Given the description of an element on the screen output the (x, y) to click on. 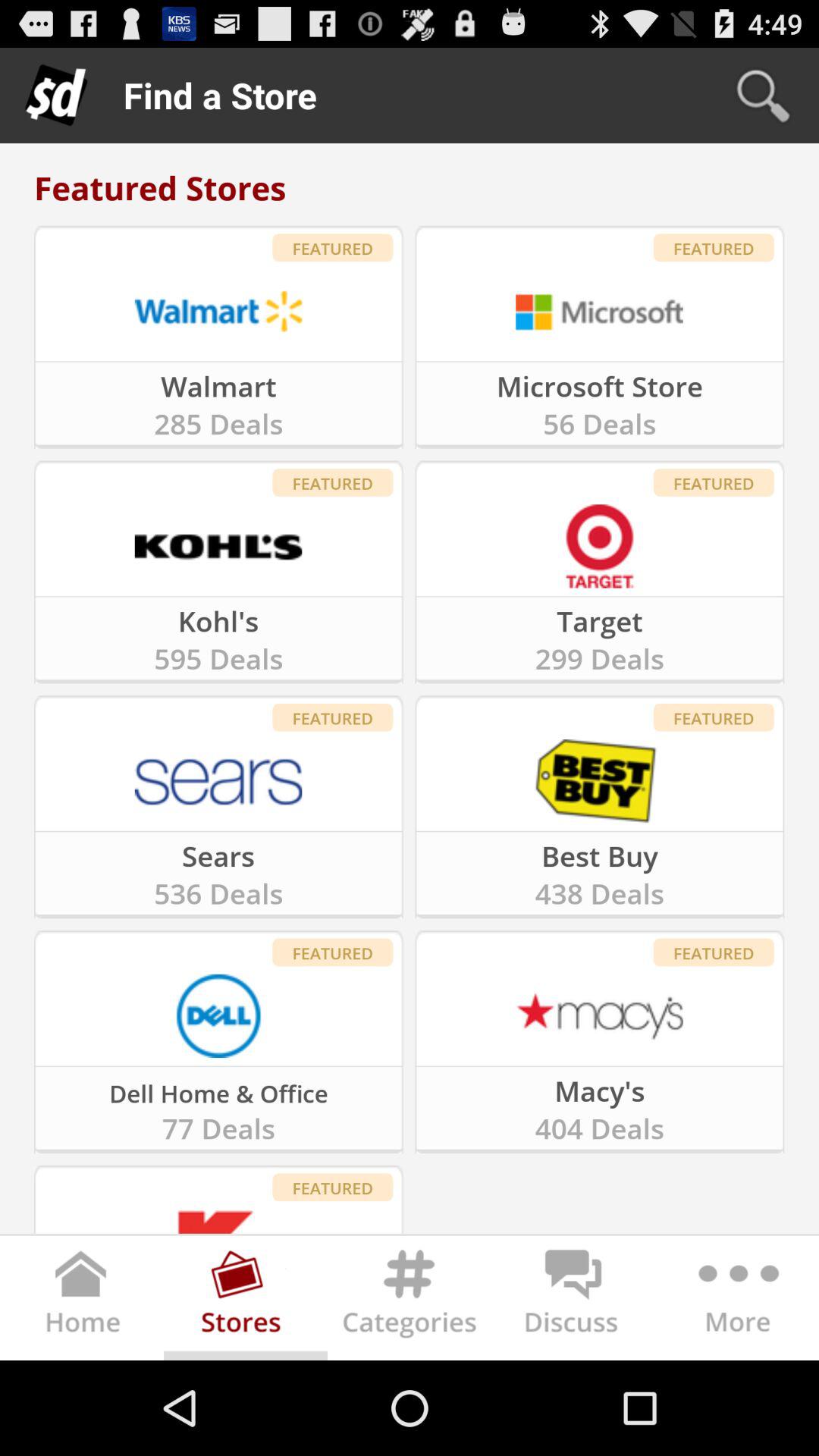
in the left corner there will be the home icon (81, 1301)
